Given the description of an element on the screen output the (x, y) to click on. 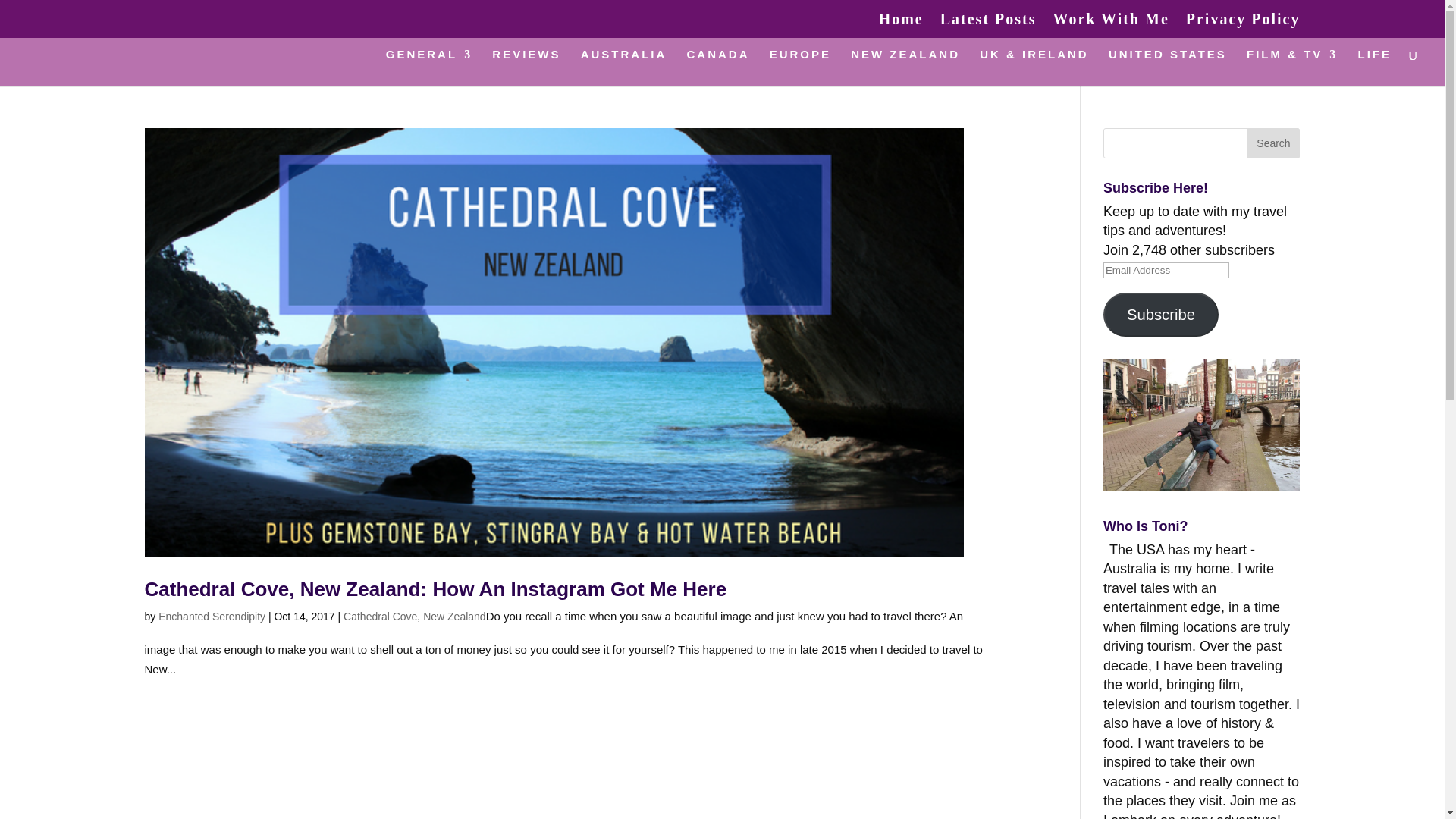
GENERAL (428, 67)
Enchanted Serendipity (211, 616)
Cathedral Cove, New Zealand: How An Instagram Got Me Here (435, 589)
UNITED STATES (1167, 67)
AUSTRALIA (623, 67)
Home (901, 24)
New Zealand (454, 616)
REVIEWS (526, 67)
Latest Posts (988, 24)
CANADA (718, 67)
